Given the description of an element on the screen output the (x, y) to click on. 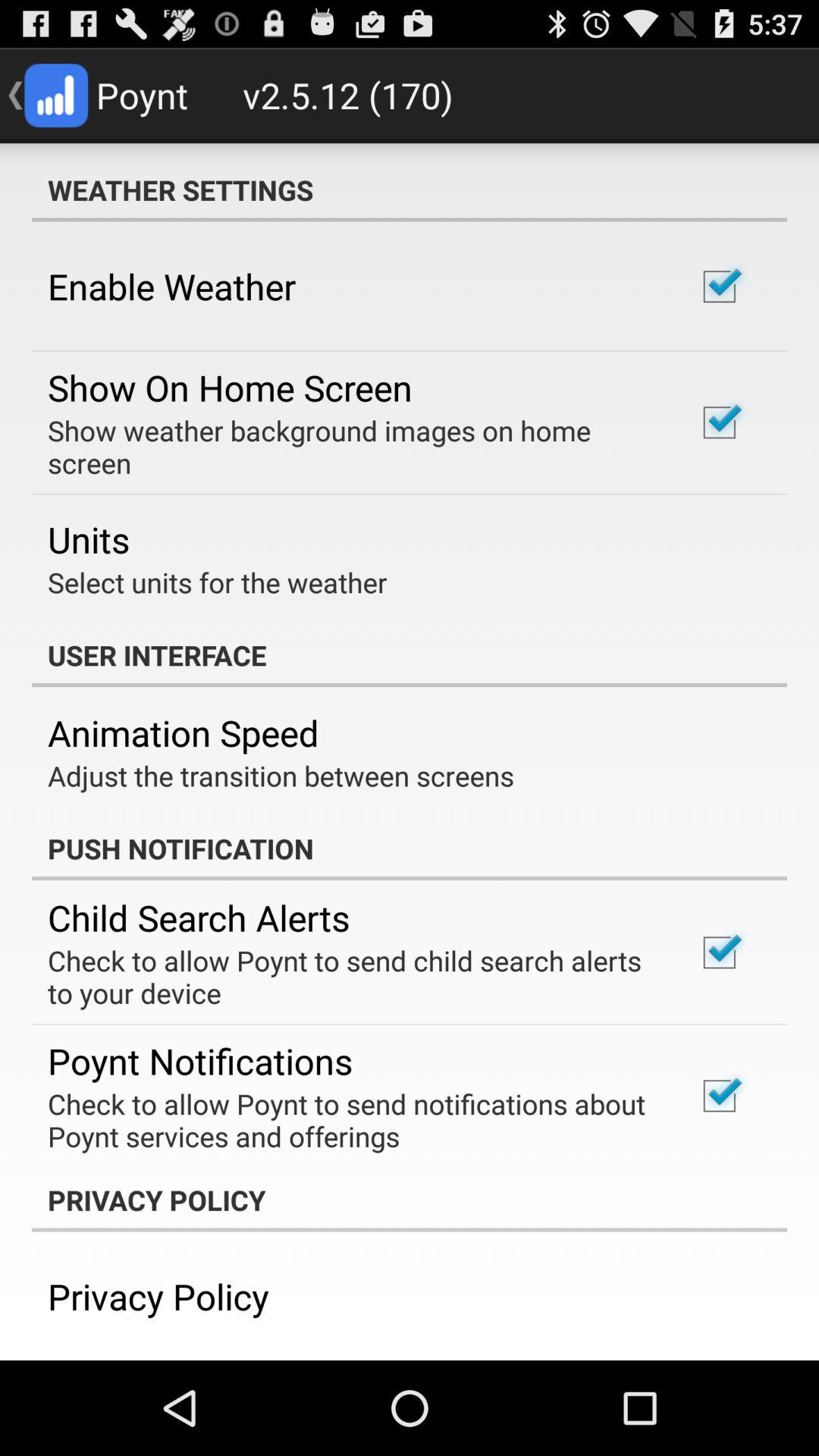
choose the show weather background app (351, 446)
